Given the description of an element on the screen output the (x, y) to click on. 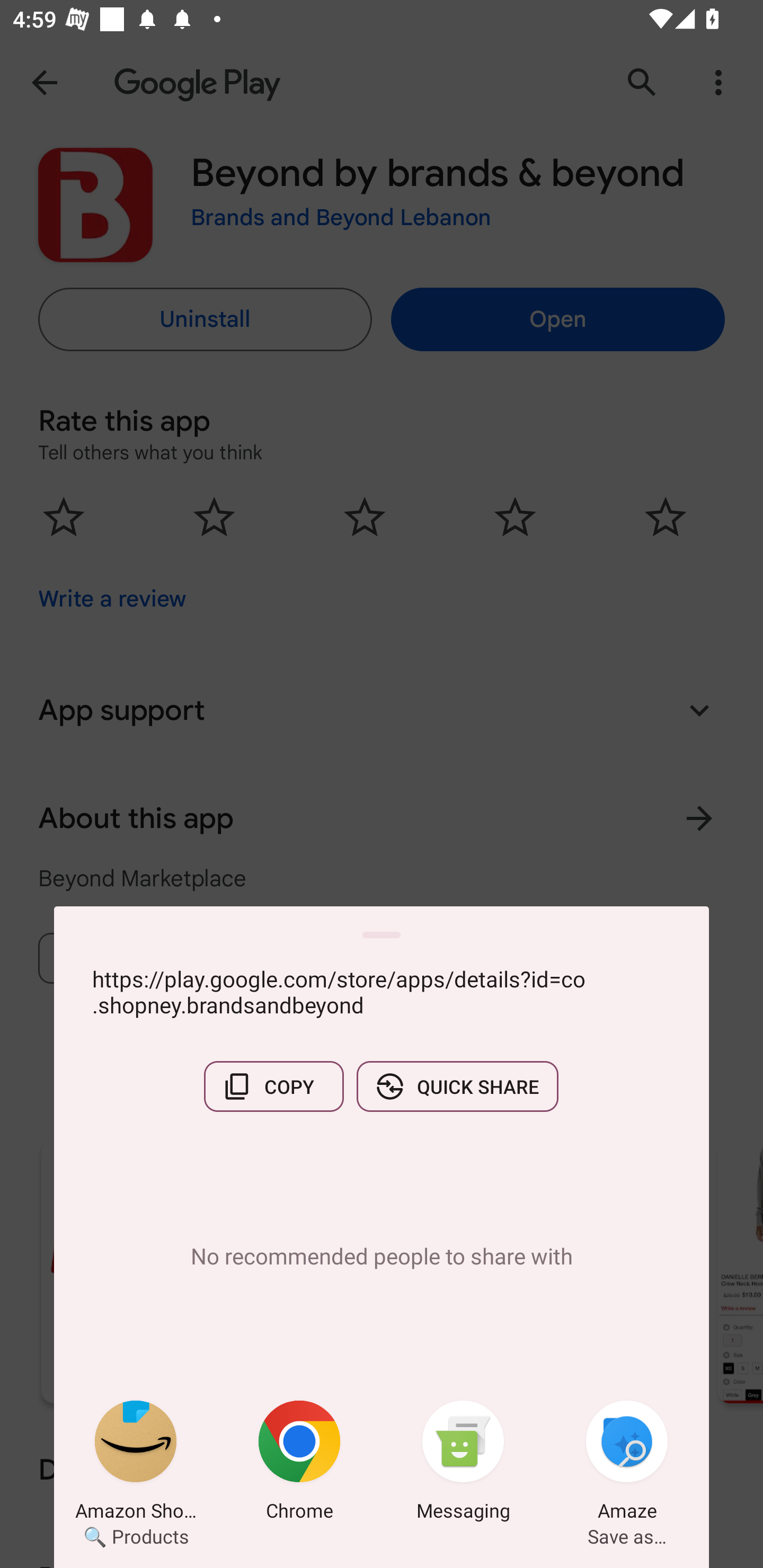
COPY (273, 1086)
QUICK SHARE (457, 1086)
Amazon Shopping 🔍 Products (135, 1463)
Chrome (299, 1463)
Messaging (463, 1463)
Amaze Save as… (626, 1463)
